Given the description of an element on the screen output the (x, y) to click on. 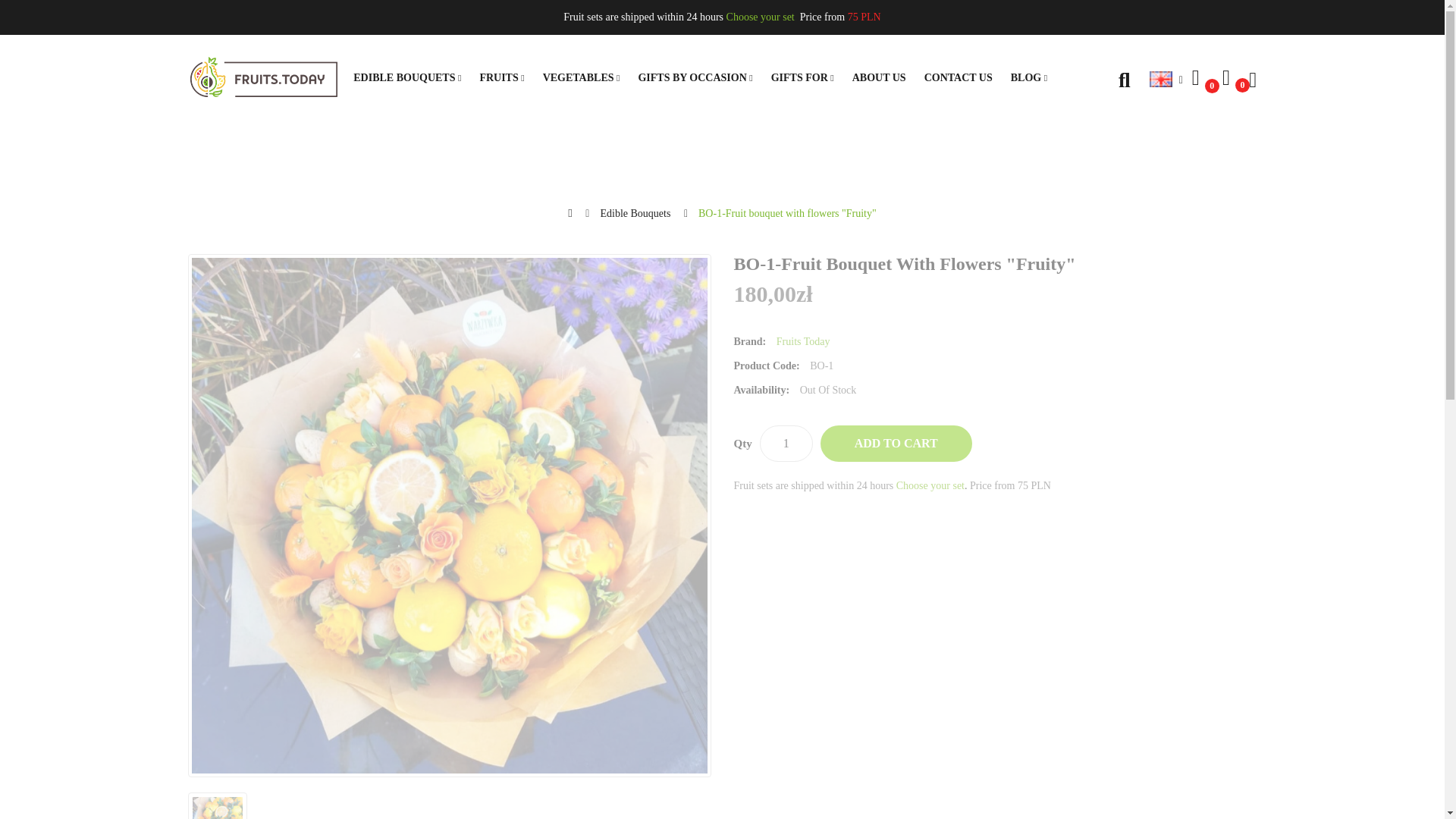
English (1161, 78)
BO-1-Fruit bouquet with flowers "Fruity" (217, 807)
Choose your set. (761, 16)
BO-1-Fruit bouquet with flowers "Fruity" (217, 805)
1 (786, 443)
